Given the description of an element on the screen output the (x, y) to click on. 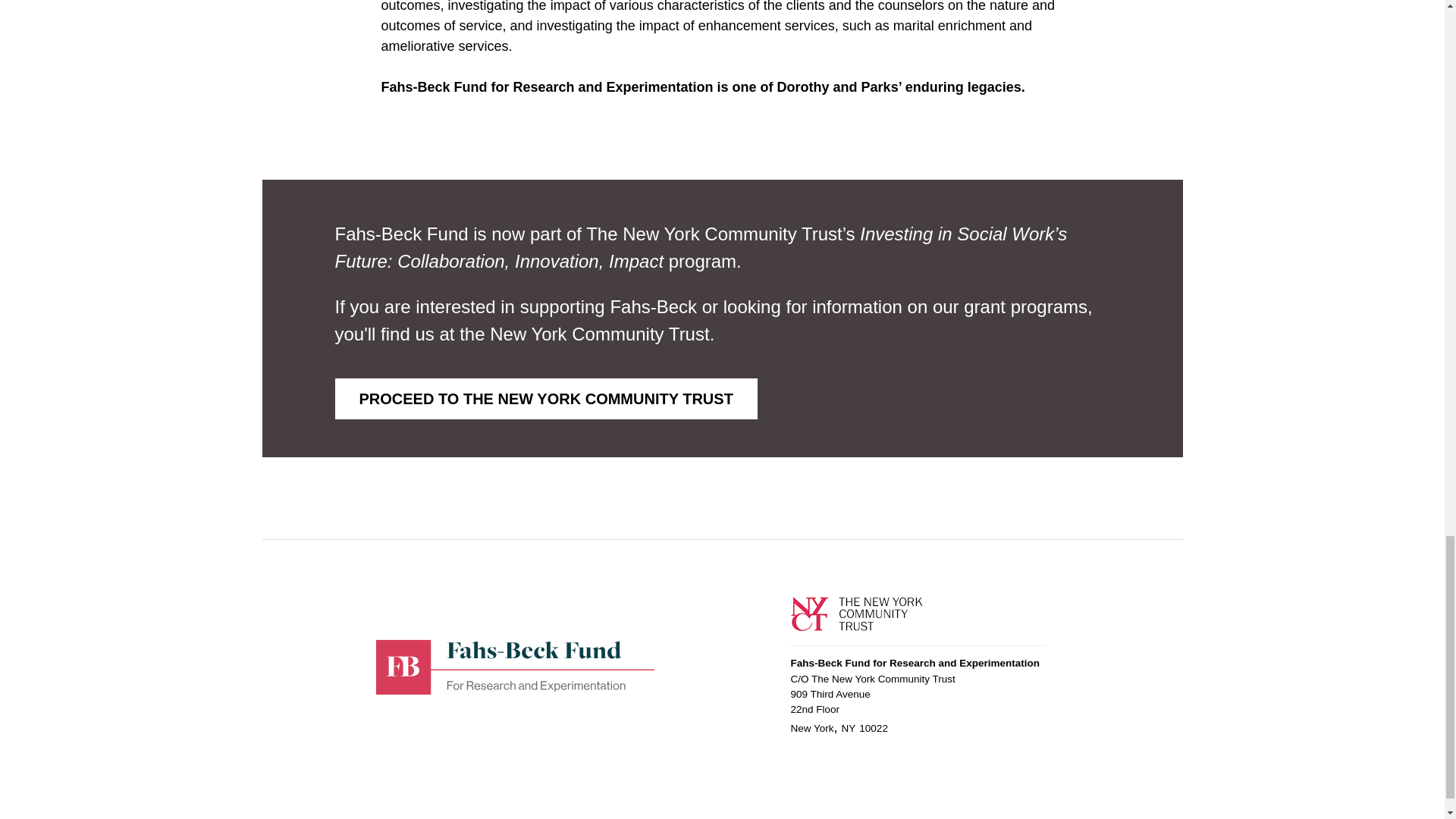
PROCEED TO THE NEW YORK COMMUNITY TRUST (545, 398)
